Given the description of an element on the screen output the (x, y) to click on. 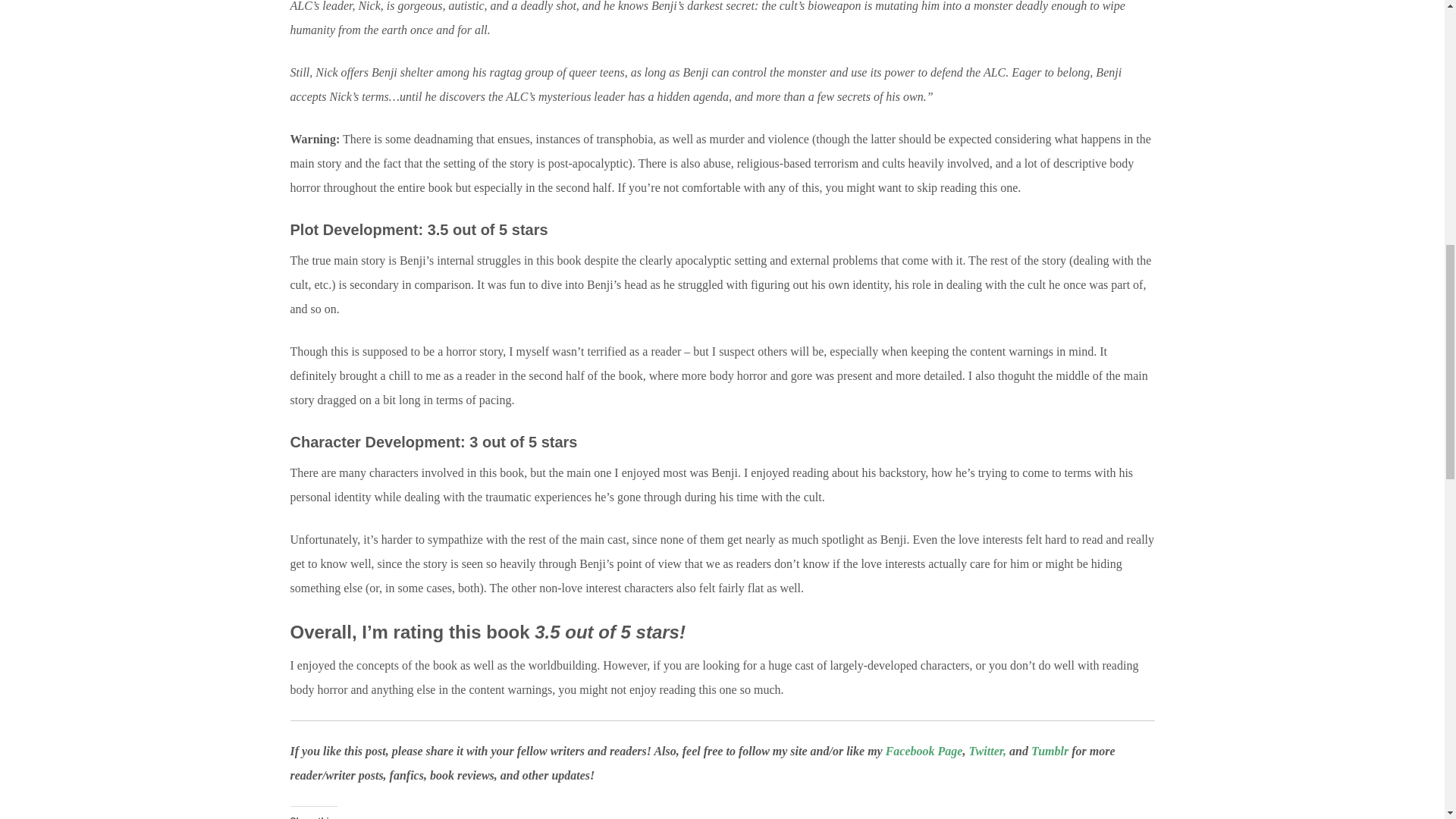
Twitter, (987, 750)
Facebook Page (923, 750)
Tumblr (1049, 750)
